Given the description of an element on the screen output the (x, y) to click on. 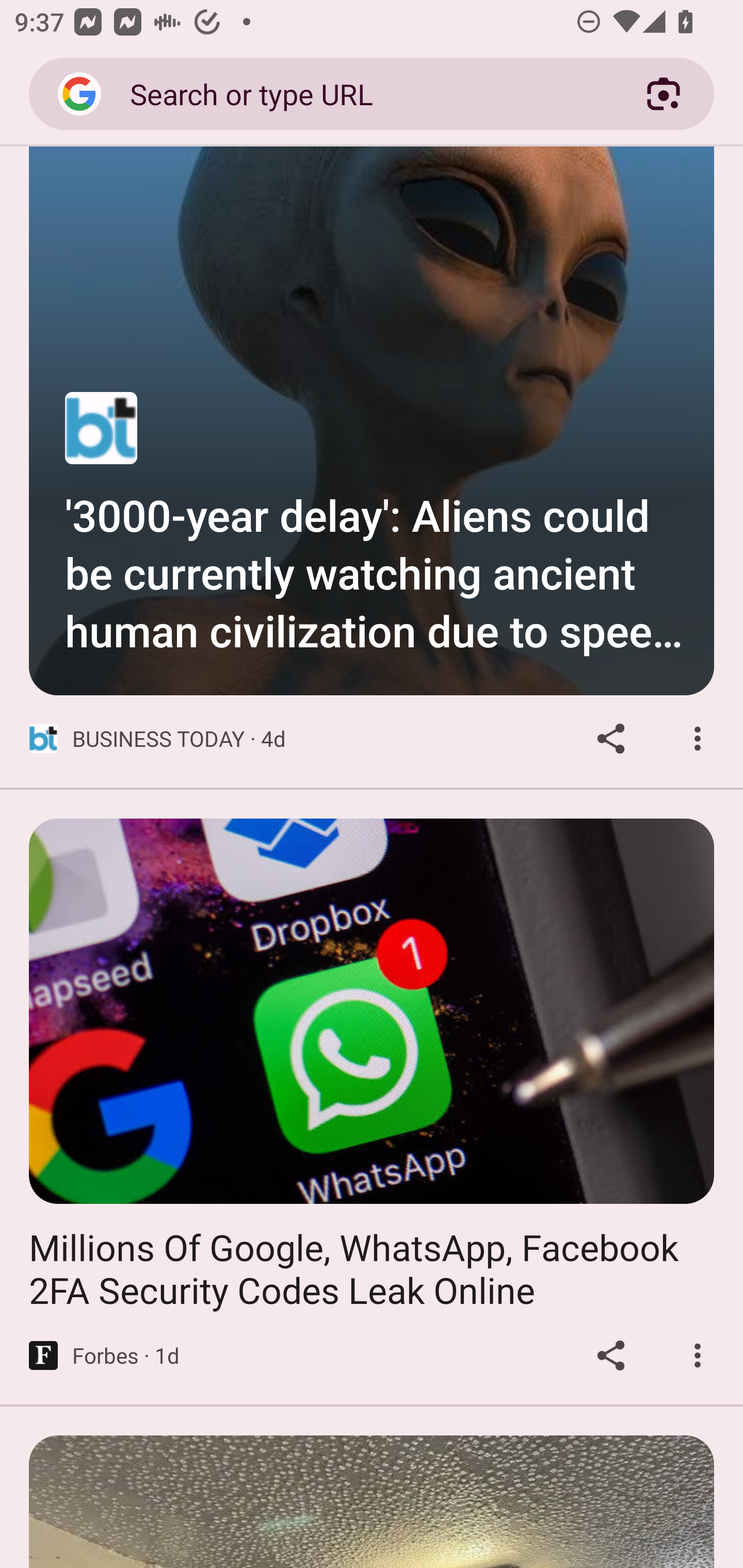
Search with your camera using Google Lens (663, 93)
Search or type URL (364, 92)
